Given the description of an element on the screen output the (x, y) to click on. 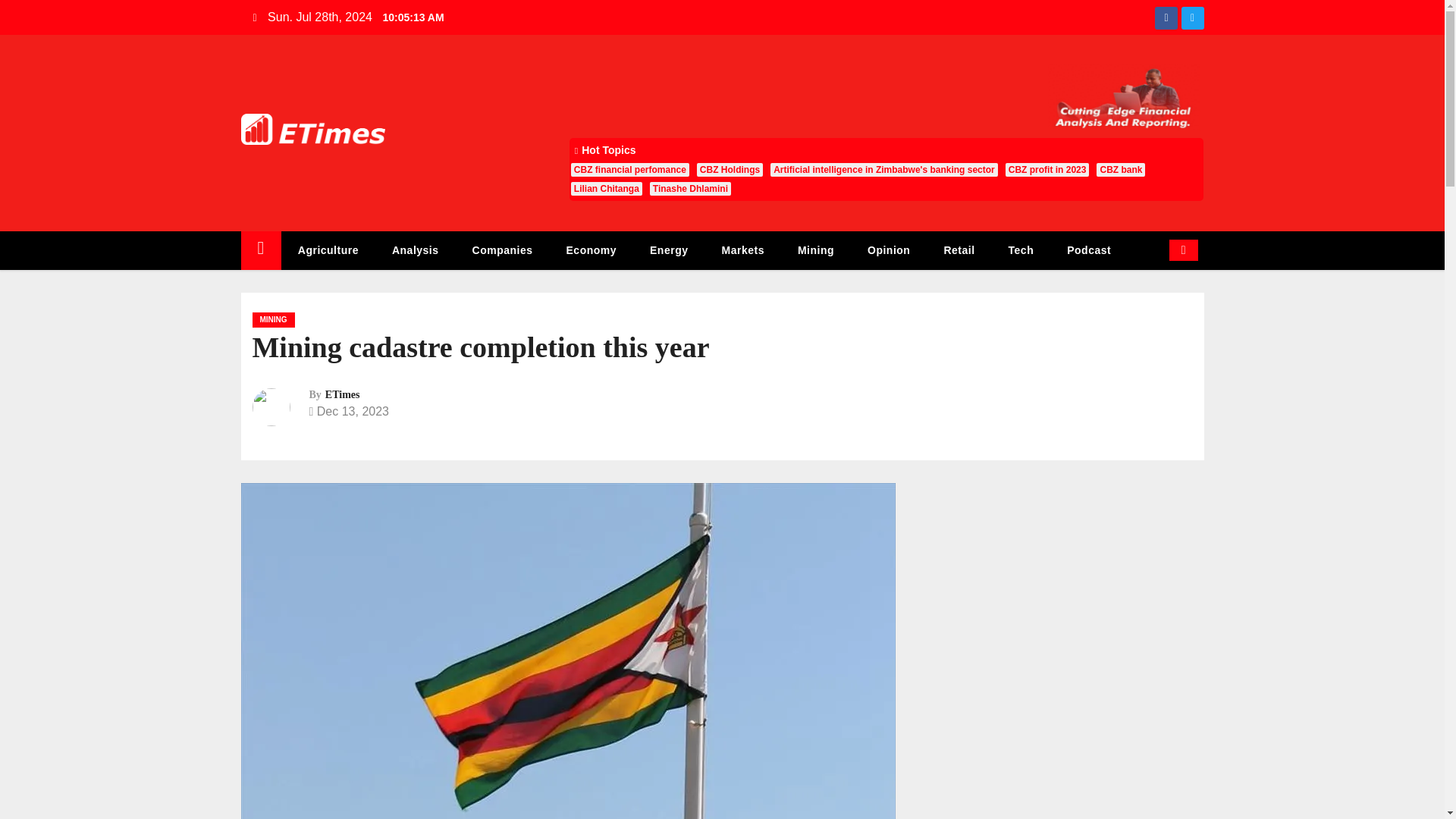
Home (261, 250)
Companies (502, 250)
Energy (668, 250)
Opinion (888, 250)
Mining (815, 250)
Artificial intelligence in Zimbabwe's banking sector (883, 169)
Agriculture (328, 250)
Tech (1021, 250)
CBZ profit in 2023 (1047, 169)
ETimes (341, 394)
Mining (815, 250)
Companies (502, 250)
Podcast (1087, 250)
Retail (958, 250)
Tinashe Dhlamini (689, 188)
